Given the description of an element on the screen output the (x, y) to click on. 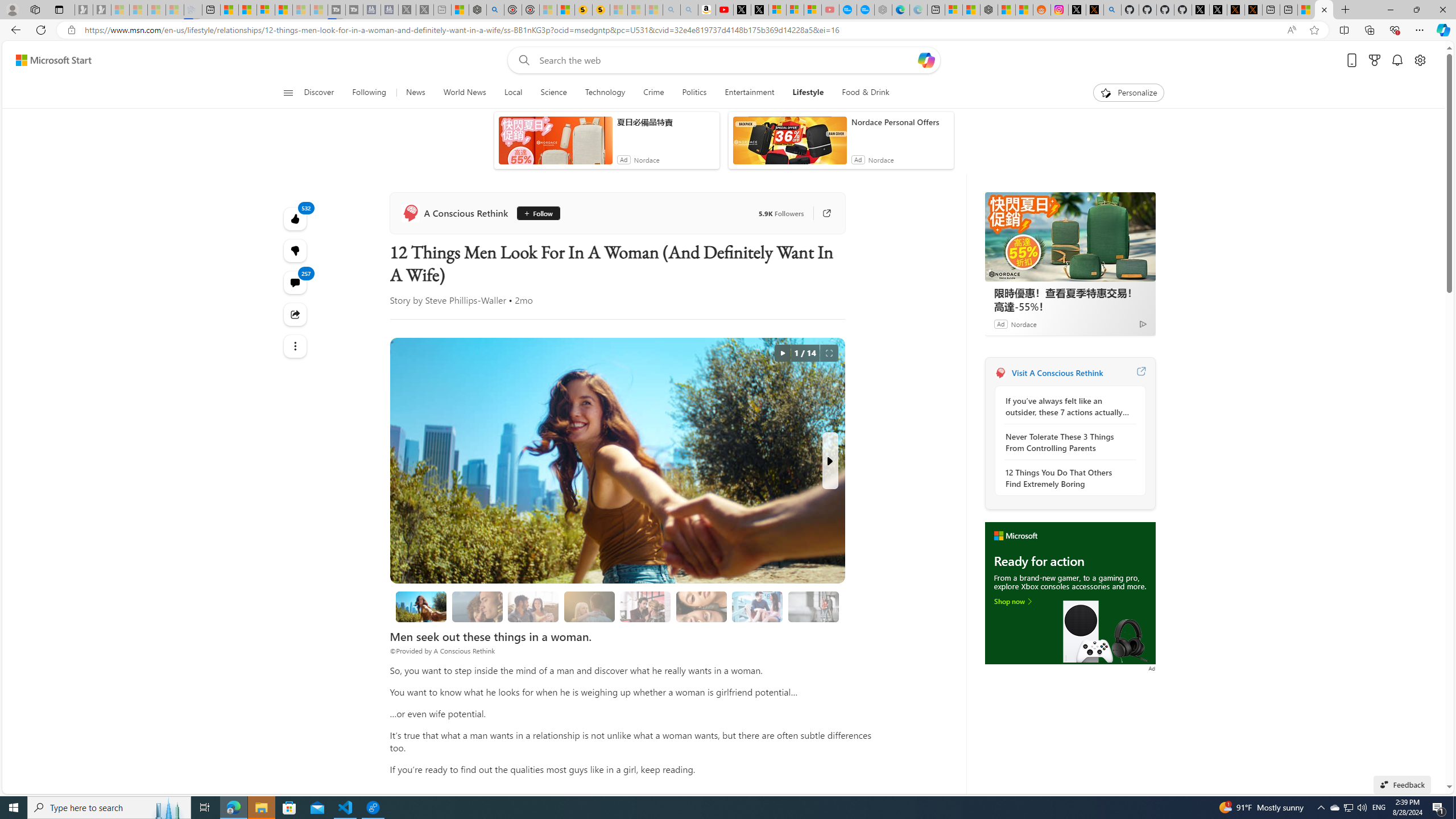
Food & Drink (860, 92)
View comments 257 Comment (295, 282)
Skip to footer (46, 59)
Opinion: Op-Ed and Commentary - USA TODAY (847, 9)
Microsoft account | Microsoft Account Privacy Settings (953, 9)
Entertainment (748, 92)
Technology (605, 92)
Entertainment (749, 92)
